Given the description of an element on the screen output the (x, y) to click on. 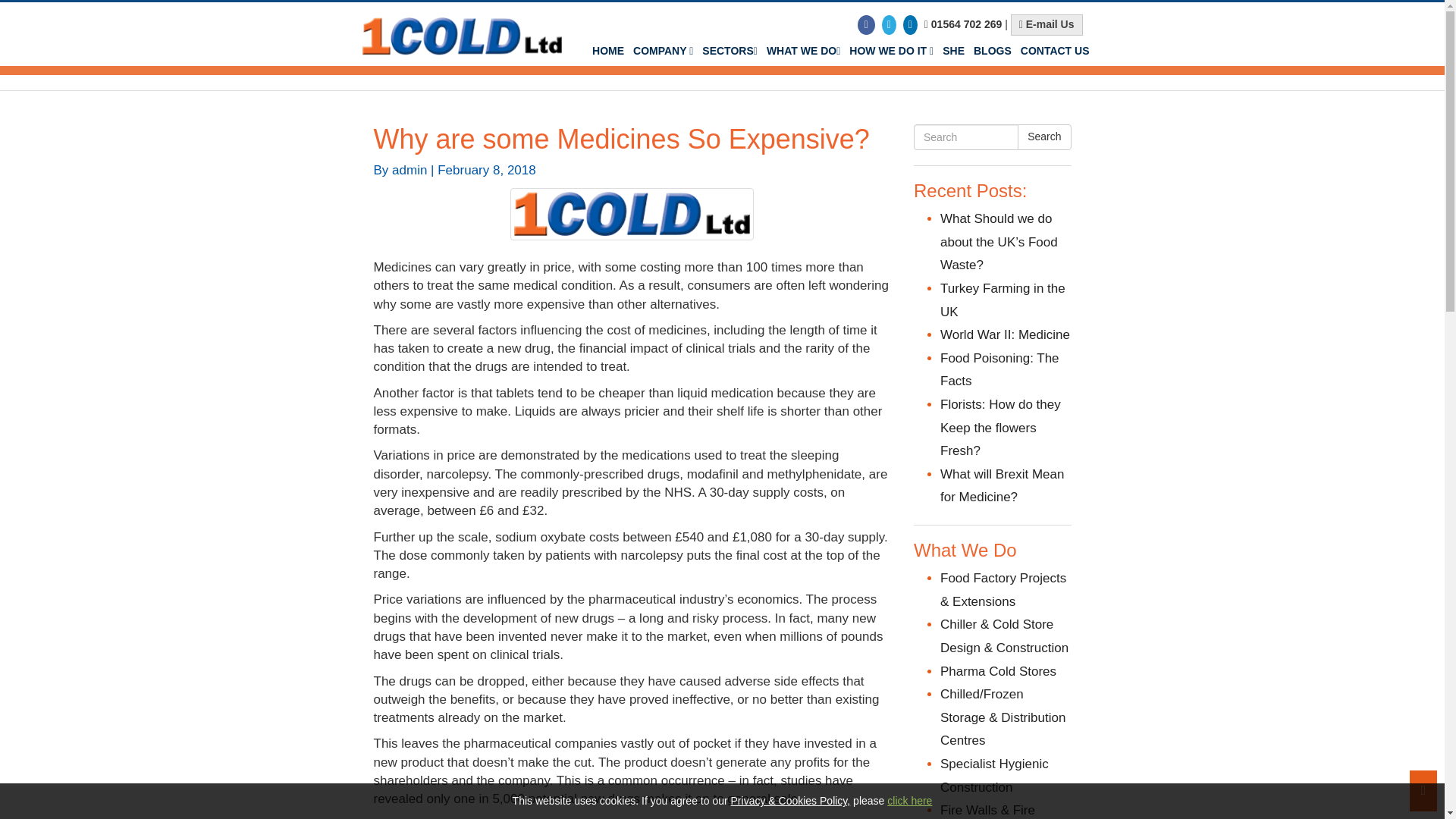
What will Brexit Mean for Medicine? (1002, 485)
World War II: Medicine (1005, 334)
Food Poisoning: The Facts (999, 370)
E-mail Us (1046, 25)
Turkey Farming in the UK (1002, 300)
SECTORS (729, 51)
HOW WE DO IT (890, 51)
Florists: How do they Keep the flowers Fresh? (1000, 427)
SHE (953, 51)
BLOGS (992, 51)
WHAT WE DO (802, 51)
HOME (608, 51)
Pharma Cold Stores (998, 671)
COMPANY (662, 51)
Specialist Hygienic Construction (994, 775)
